Given the description of an element on the screen output the (x, y) to click on. 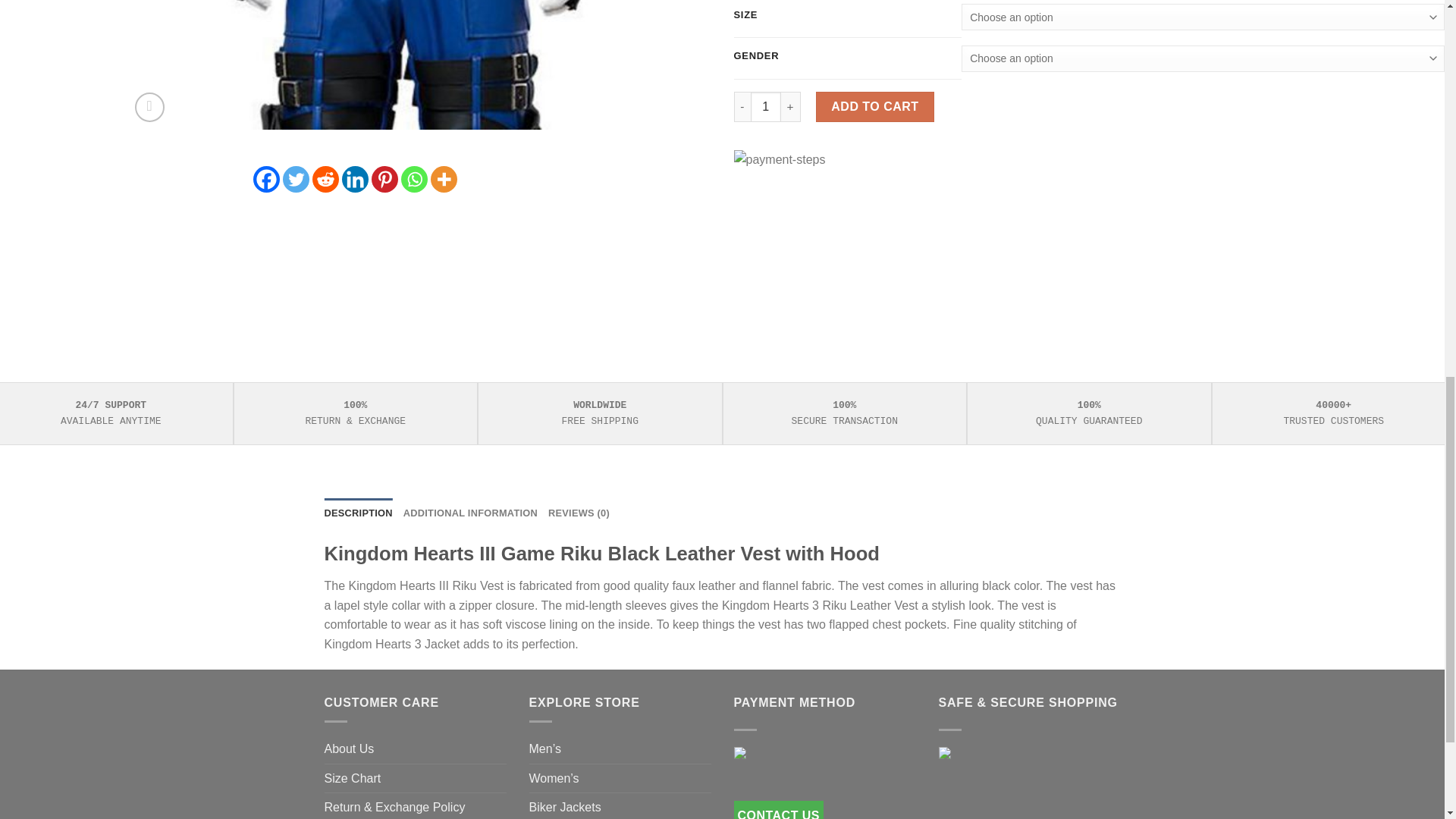
3-riku-leather-vest (992, 64)
kingdom-hearts-iii-riku-vest (414, 64)
1 (765, 106)
- (742, 106)
Zoom (149, 107)
